Given the description of an element on the screen output the (x, y) to click on. 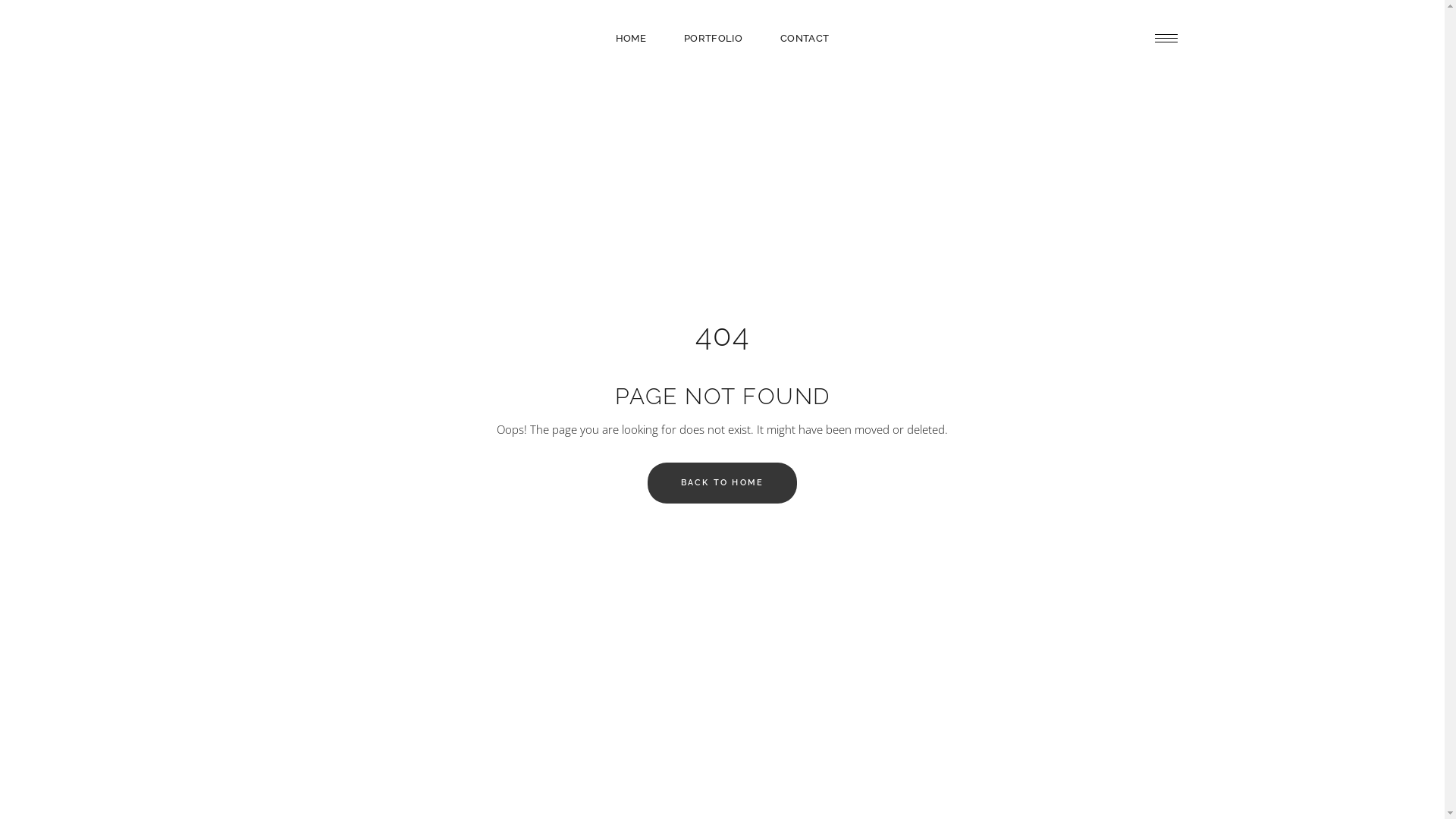
PORTFOLIO Element type: text (713, 37)
CONTACT Element type: text (804, 37)
BACK TO HOME Element type: text (722, 482)
HOME Element type: text (630, 37)
